Given the description of an element on the screen output the (x, y) to click on. 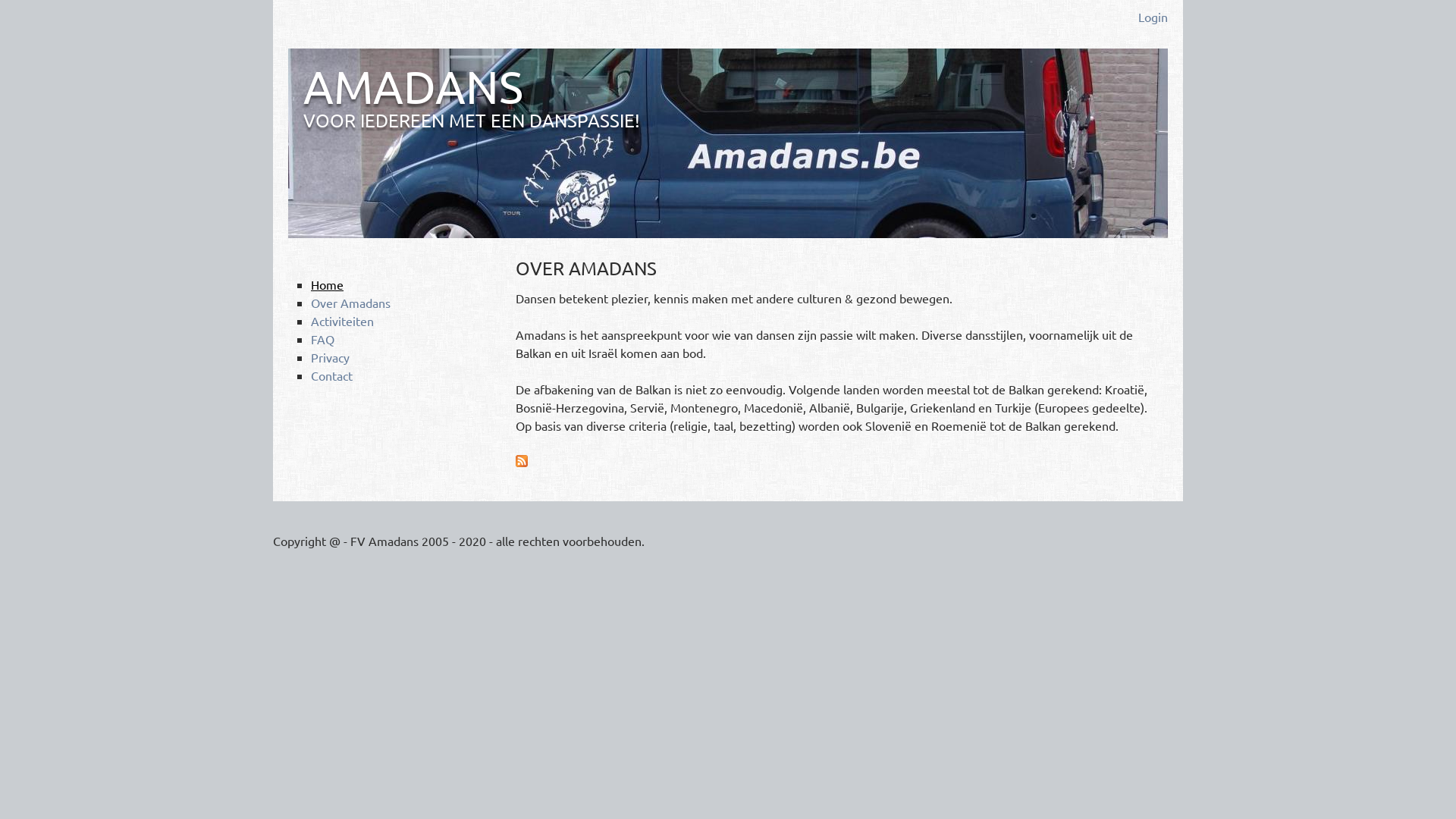
Over Amadans Element type: text (350, 302)
Home Element type: text (326, 283)
FAQ Element type: text (322, 338)
Login Element type: text (1152, 16)
Abonneren op Amadans RSS Element type: hover (521, 461)
Contact Element type: text (331, 374)
Activiteiten Element type: text (341, 320)
Privacy Element type: text (329, 356)
